Given the description of an element on the screen output the (x, y) to click on. 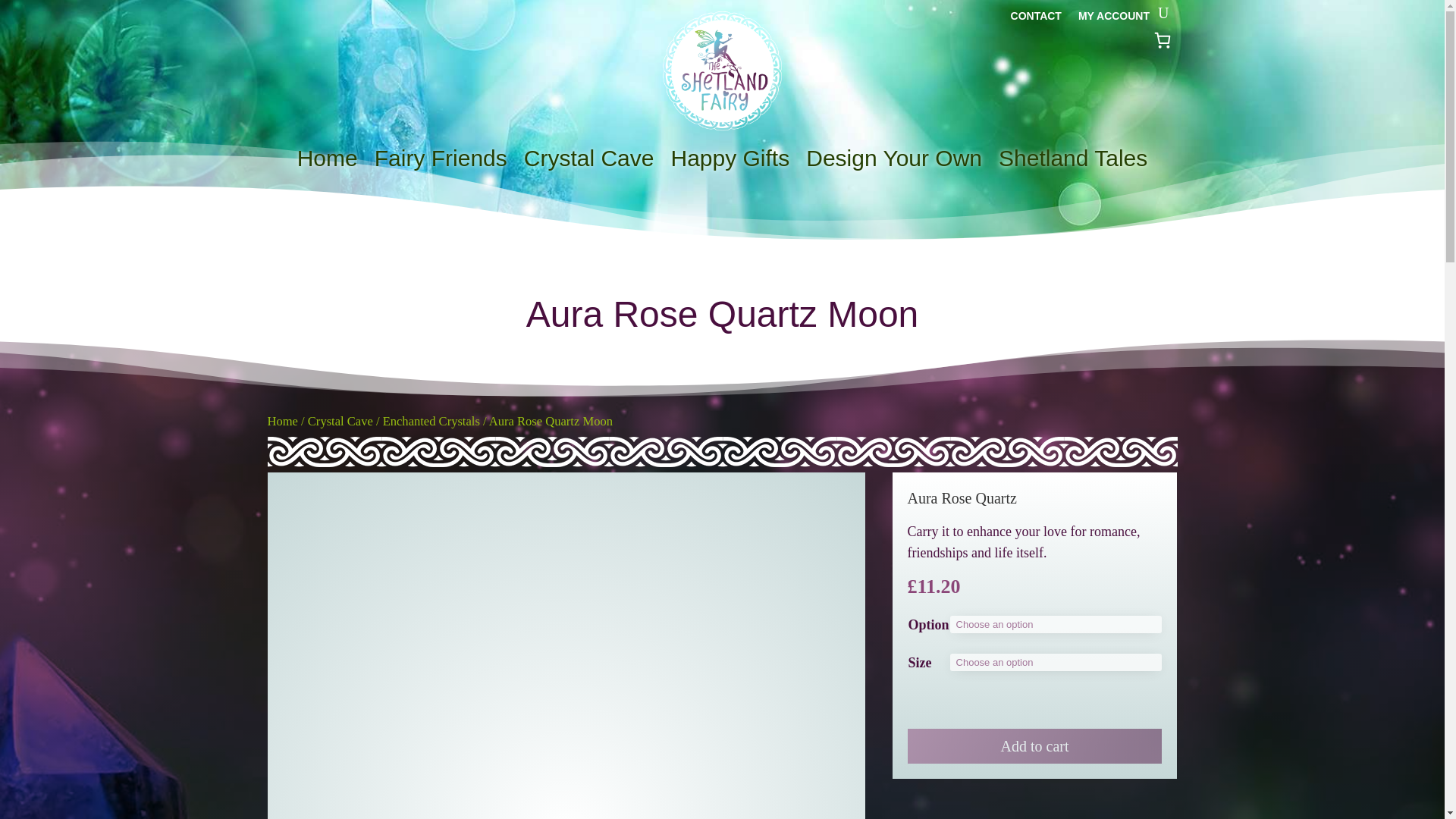
Fairy Friends (440, 161)
CONTACT (1035, 18)
MY ACCOUNT (1114, 18)
Shetland Fairy Logo (722, 70)
Home (327, 161)
